Given the description of an element on the screen output the (x, y) to click on. 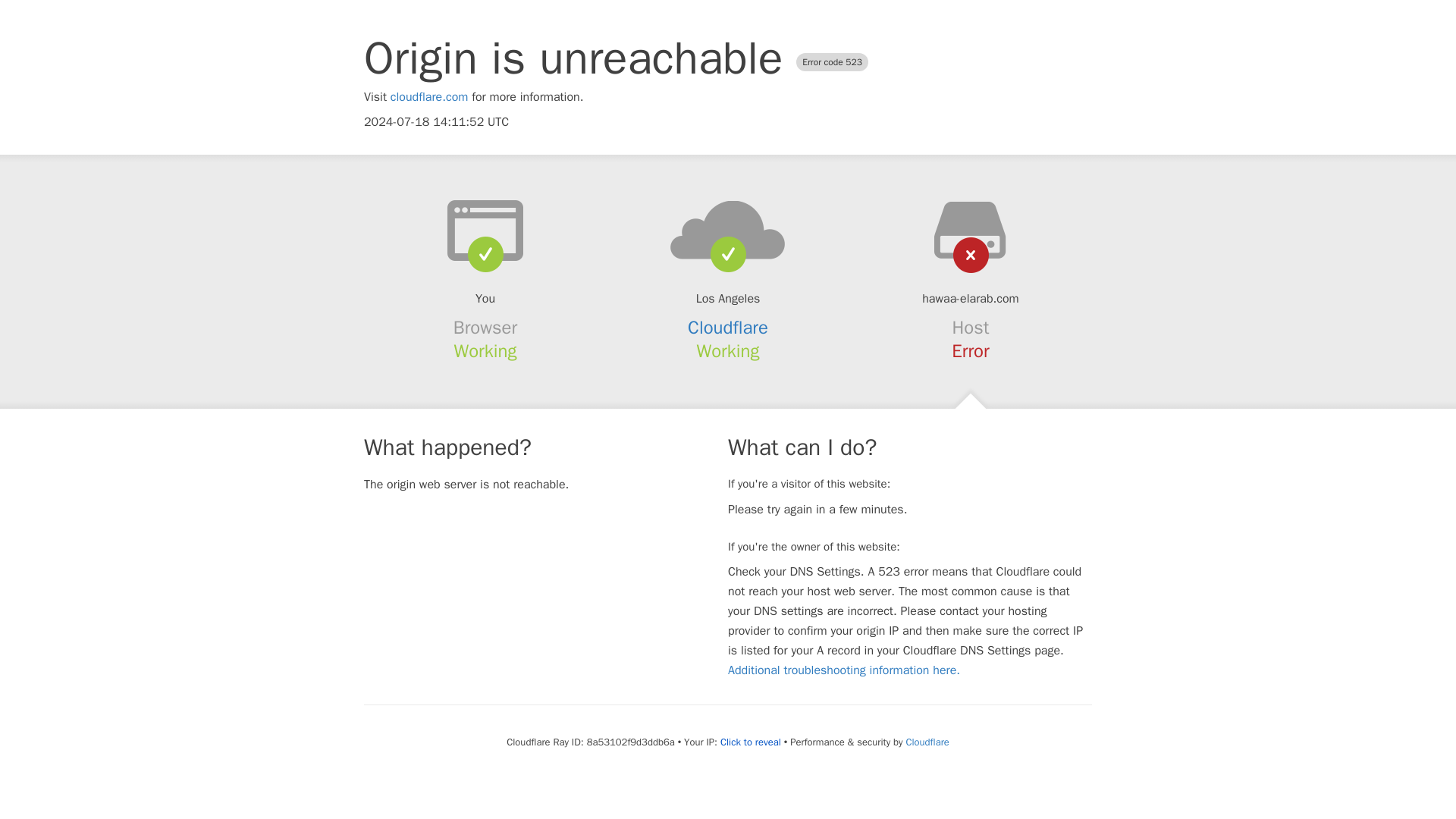
cloudflare.com (429, 96)
Additional troubleshooting information here. (843, 670)
Cloudflare (927, 741)
Cloudflare (727, 327)
Click to reveal (750, 742)
